Given the description of an element on the screen output the (x, y) to click on. 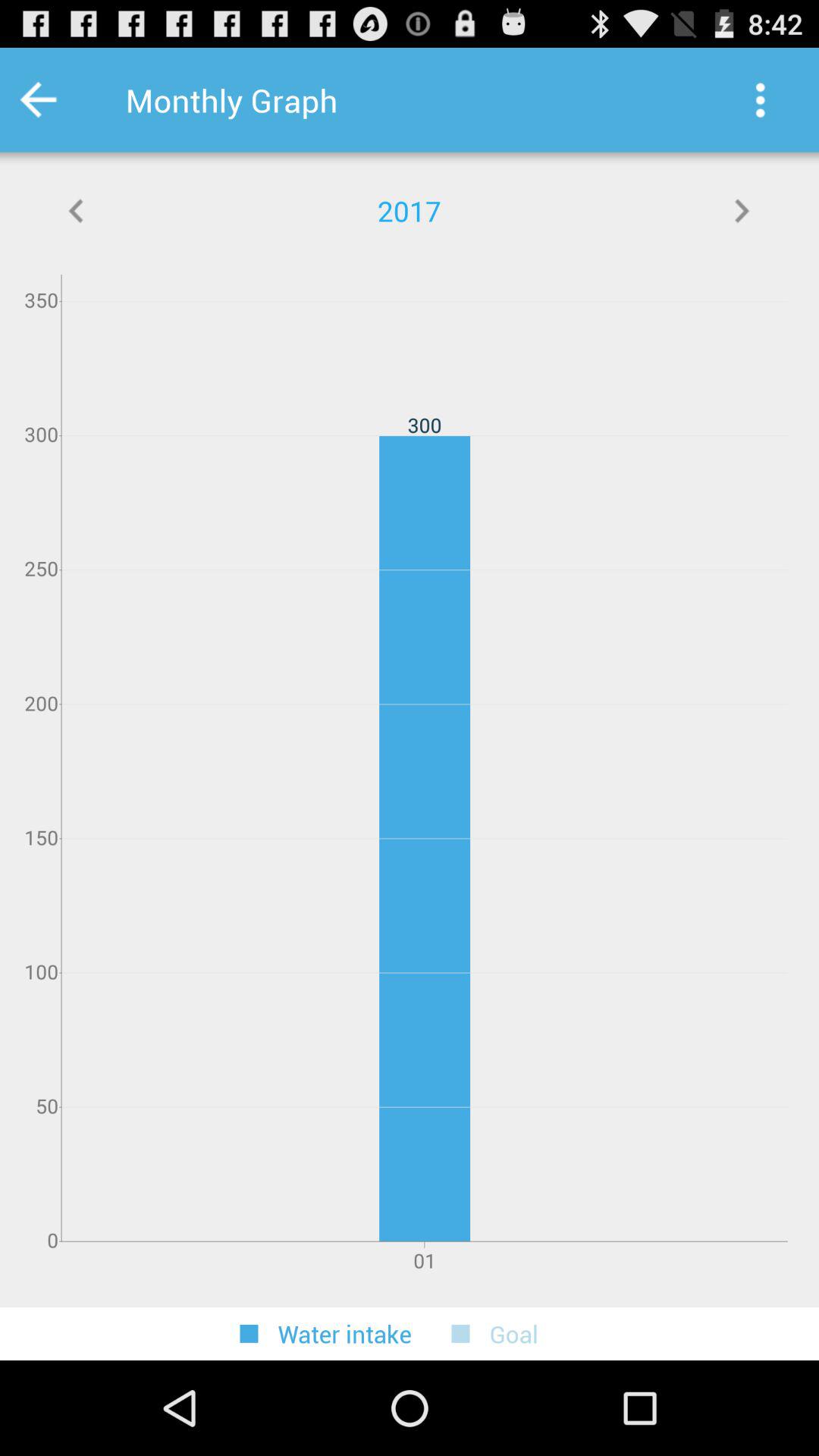
launch icon below monthly graph app (76, 210)
